Given the description of an element on the screen output the (x, y) to click on. 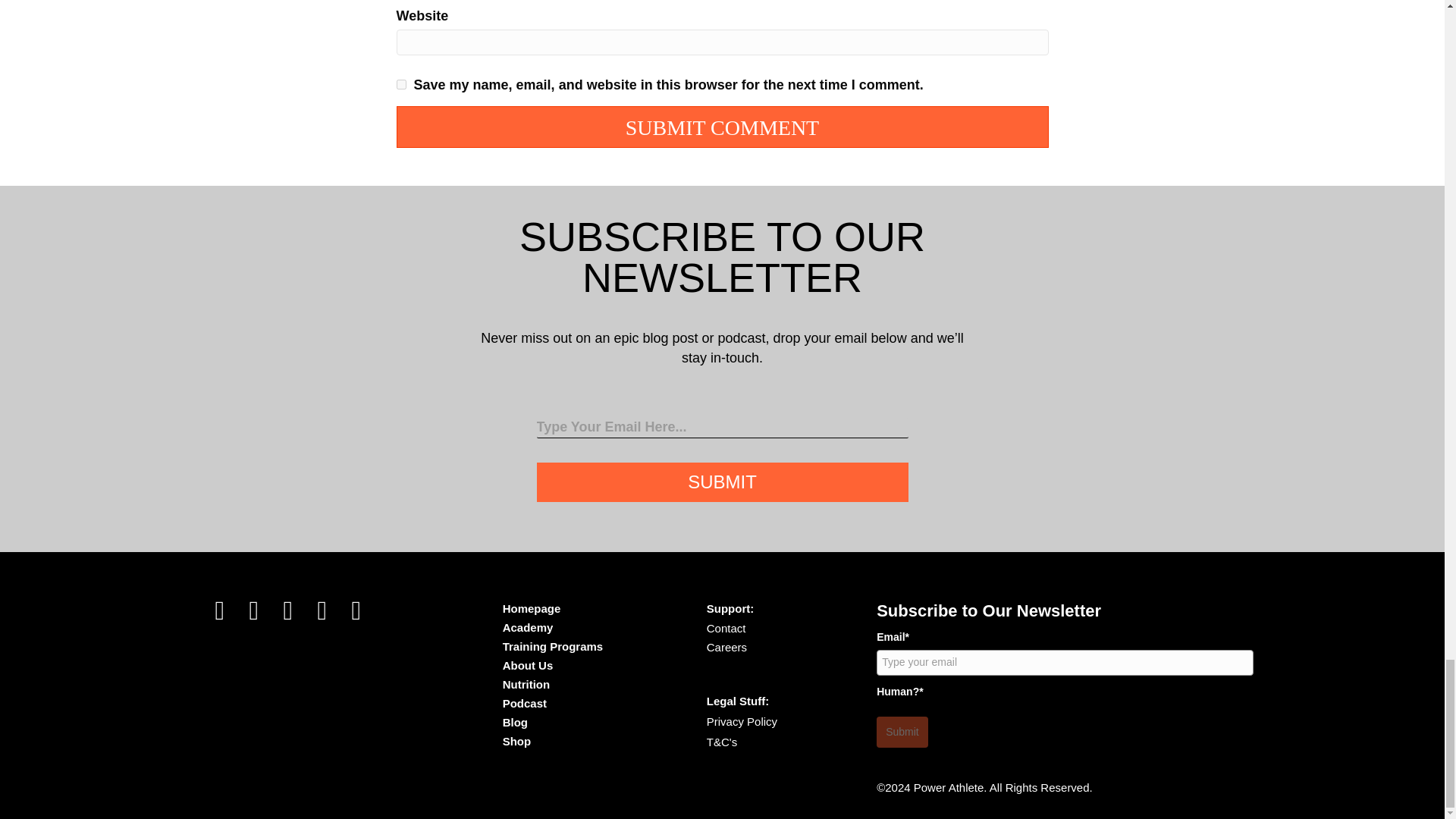
Submit Comment (722, 127)
Submit (722, 482)
yes (401, 84)
